Given the description of an element on the screen output the (x, y) to click on. 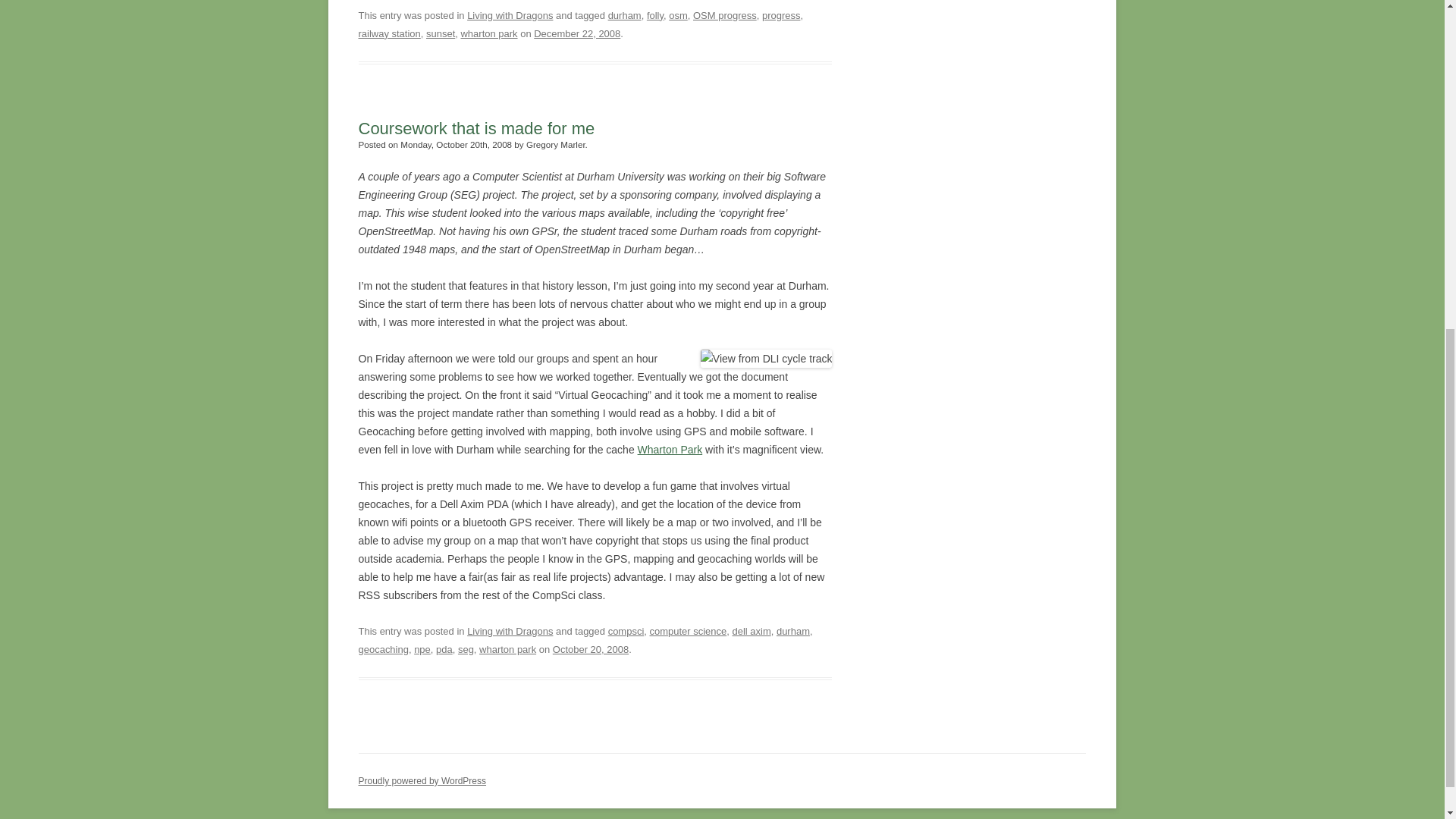
railway station (389, 33)
Wharton Park (670, 449)
Living with Dragons (510, 15)
seg (466, 649)
wharton park (488, 33)
December 22, 2008 (577, 33)
pda (443, 649)
computer science (687, 631)
sunset (440, 33)
durham (792, 631)
